Given the description of an element on the screen output the (x, y) to click on. 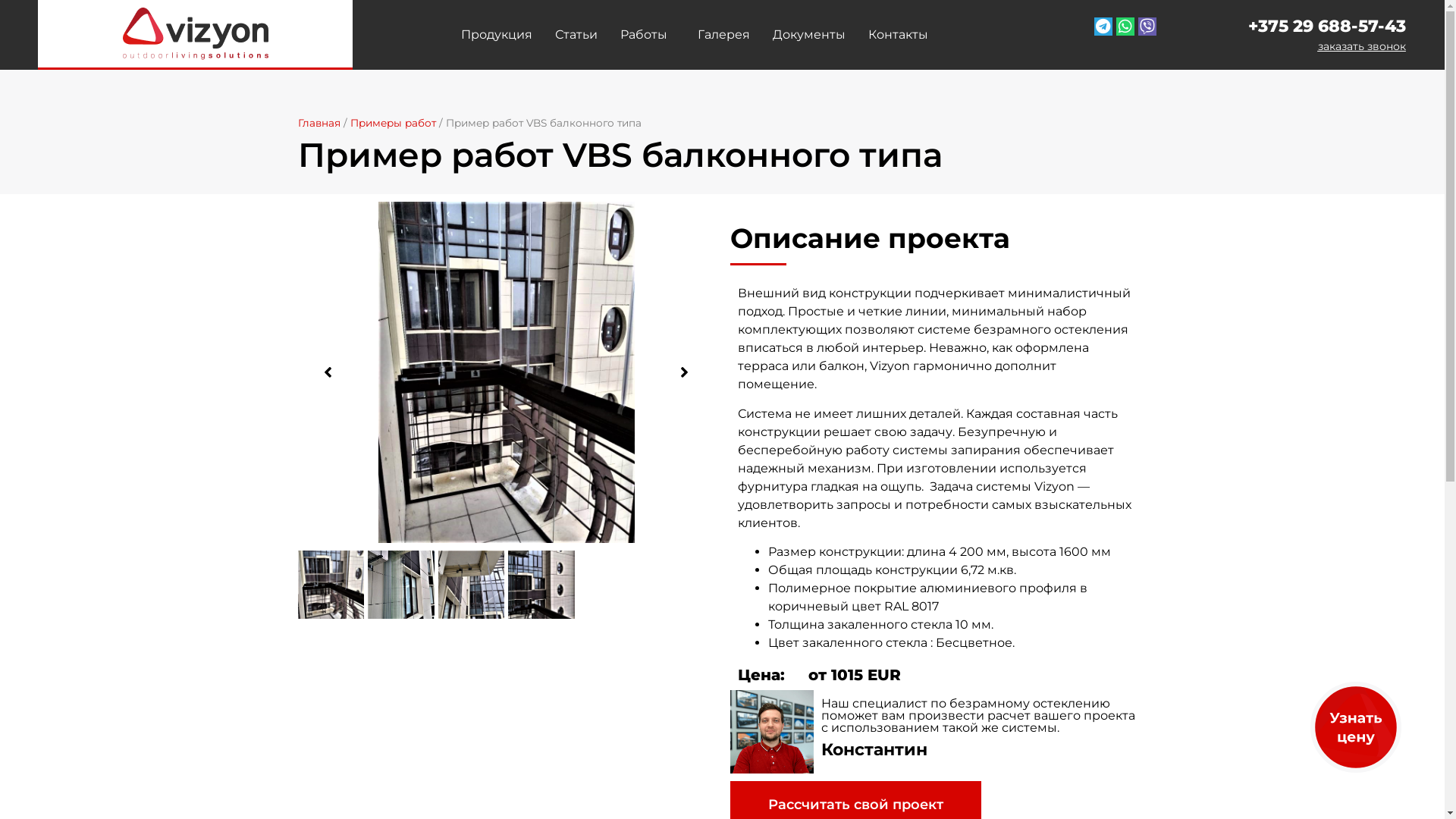
+375 29 688-57-43 Element type: text (1326, 26)
